Given the description of an element on the screen output the (x, y) to click on. 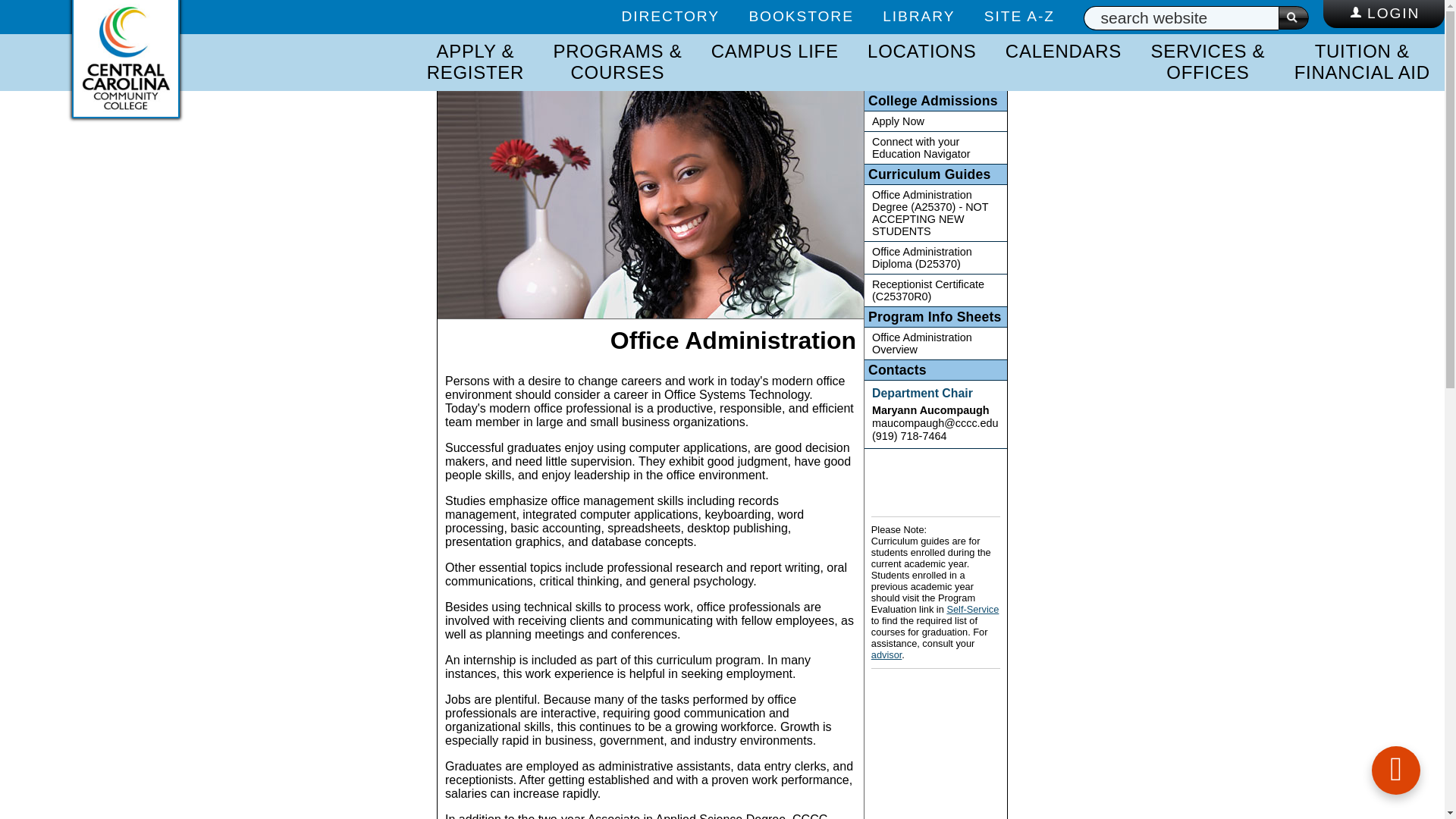
SITE A-Z (1019, 16)
DIRECTORY (670, 16)
CAMPUS LIFE (774, 50)
 Search (1293, 17)
LOGIN (1383, 16)
CALENDARS (1063, 50)
LOCATIONS (921, 50)
BOOKSTORE (800, 16)
LIBRARY (918, 16)
 Search (1293, 17)
